Given the description of an element on the screen output the (x, y) to click on. 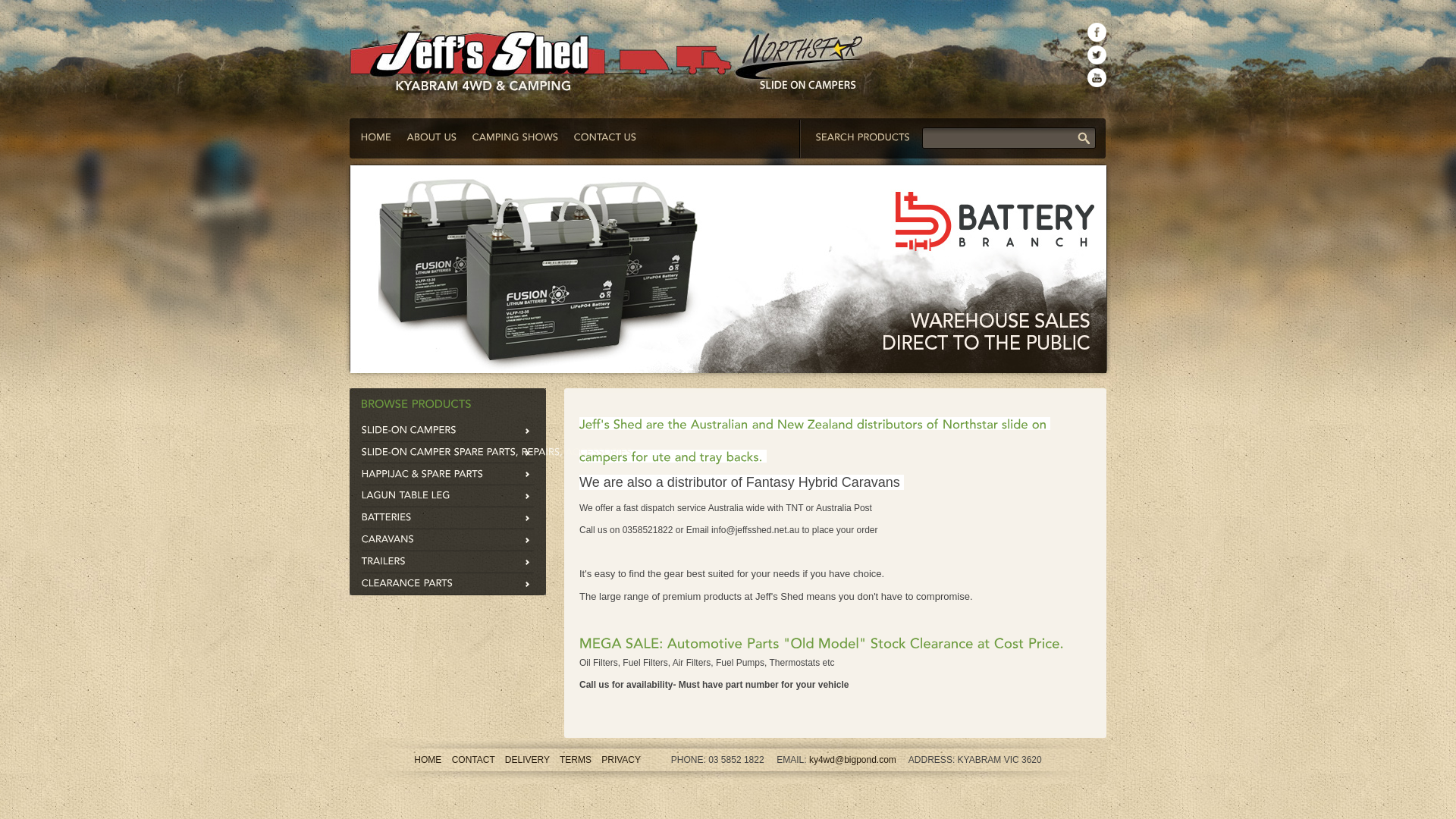
Like us on facebook Element type: text (1096, 31)
PRIVACY Element type: text (620, 759)
HOME Element type: text (427, 759)
Jeffs Shed Kyabram Element type: hover (609, 50)
ky4wd@bigpond.com Element type: text (852, 759)
CONTACT Element type: text (473, 759)
Follow us in Twitter Element type: text (1096, 54)
DELIVERY Element type: text (527, 759)
TERMS Element type: text (575, 759)
Watch us on YouTube Element type: text (1096, 77)
Search Element type: hover (1088, 141)
